Given the description of an element on the screen output the (x, y) to click on. 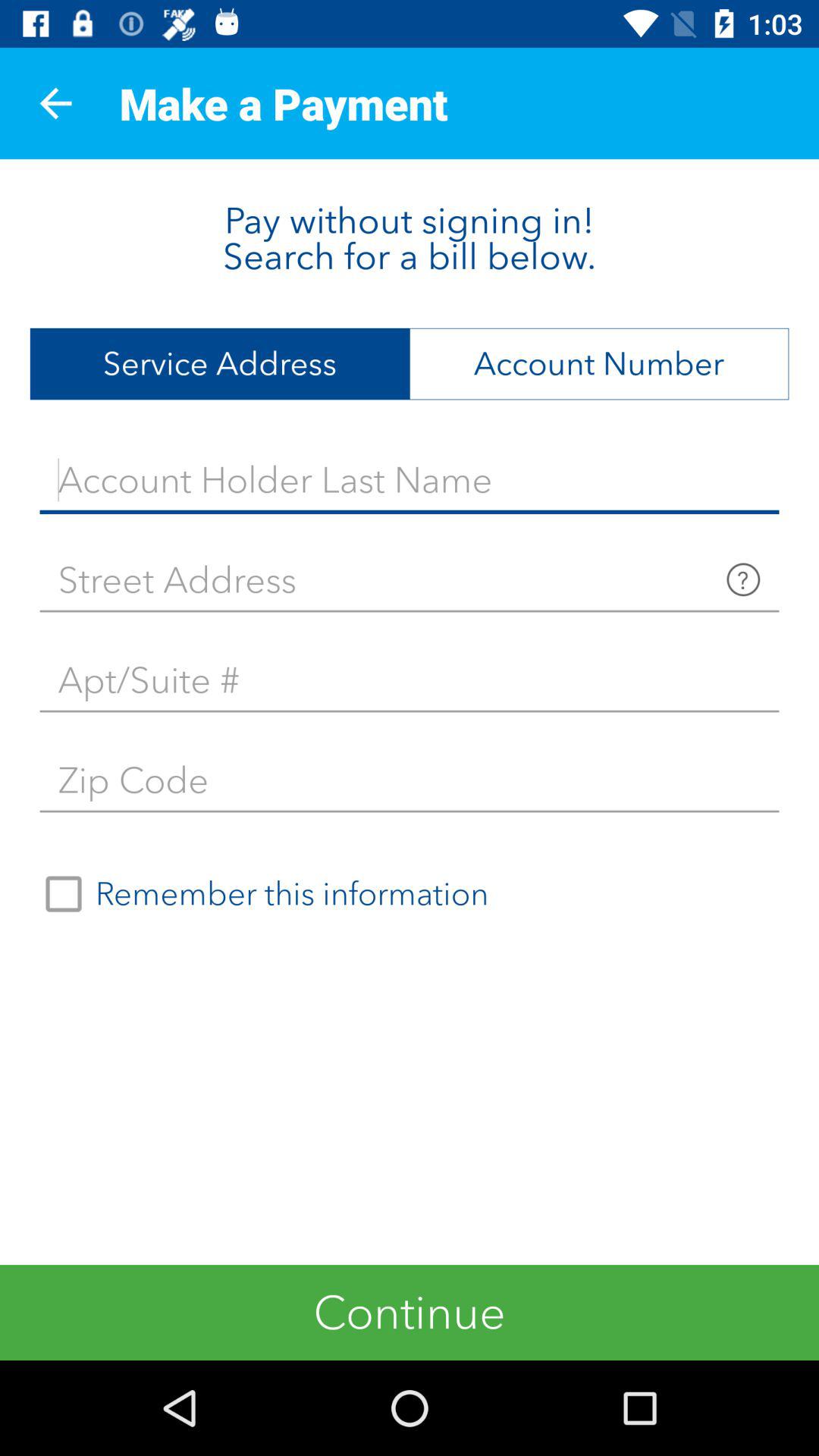
jump until account number icon (598, 363)
